Given the description of an element on the screen output the (x, y) to click on. 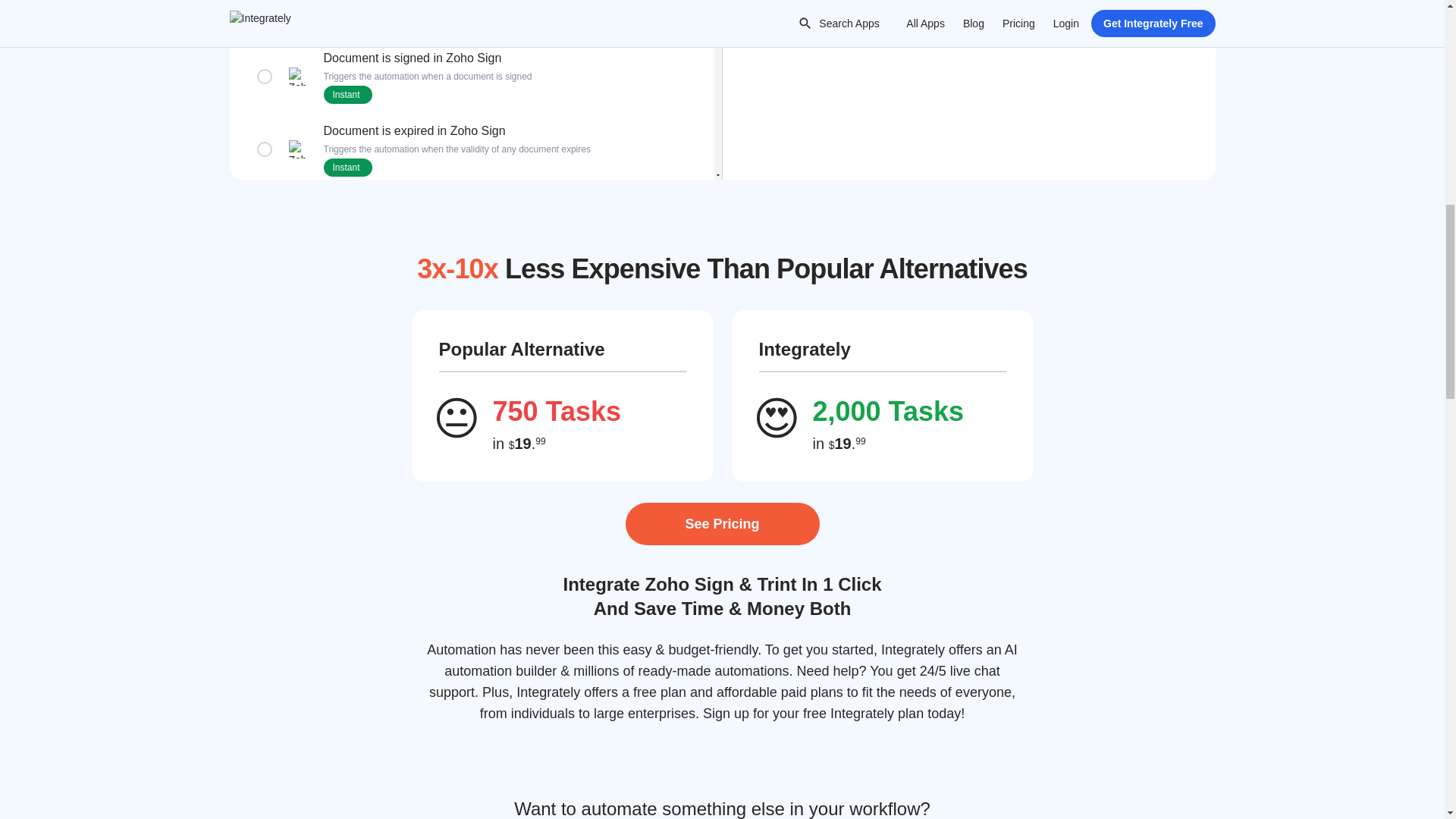
See Pricing (721, 523)
